Given the description of an element on the screen output the (x, y) to click on. 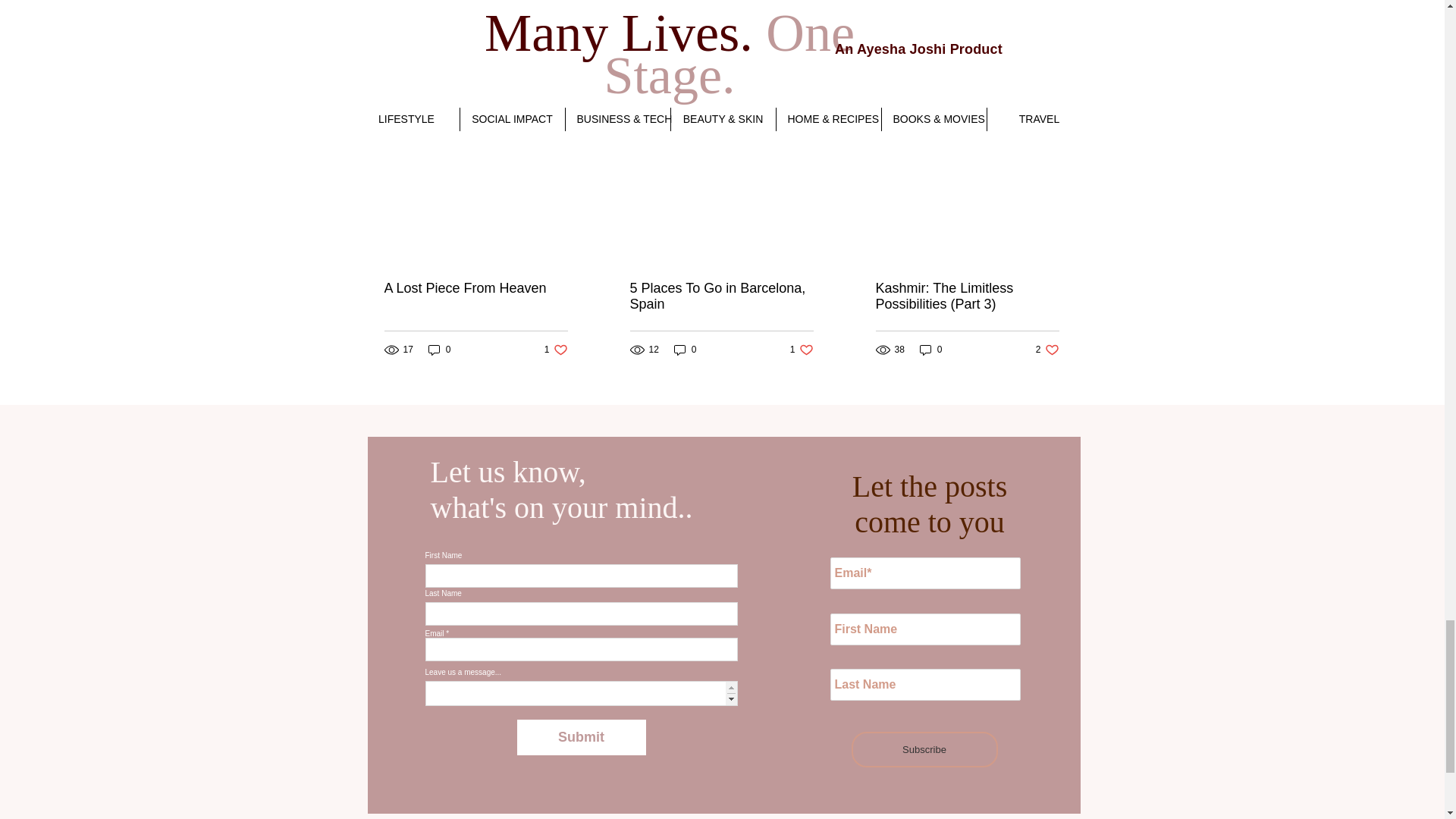
A Lost Piece From Heaven (475, 288)
See All (1061, 112)
5 Places To Go in Barcelona, Spain (555, 350)
Subscribe (801, 350)
0 (990, 30)
Submit (1047, 350)
